Given the description of an element on the screen output the (x, y) to click on. 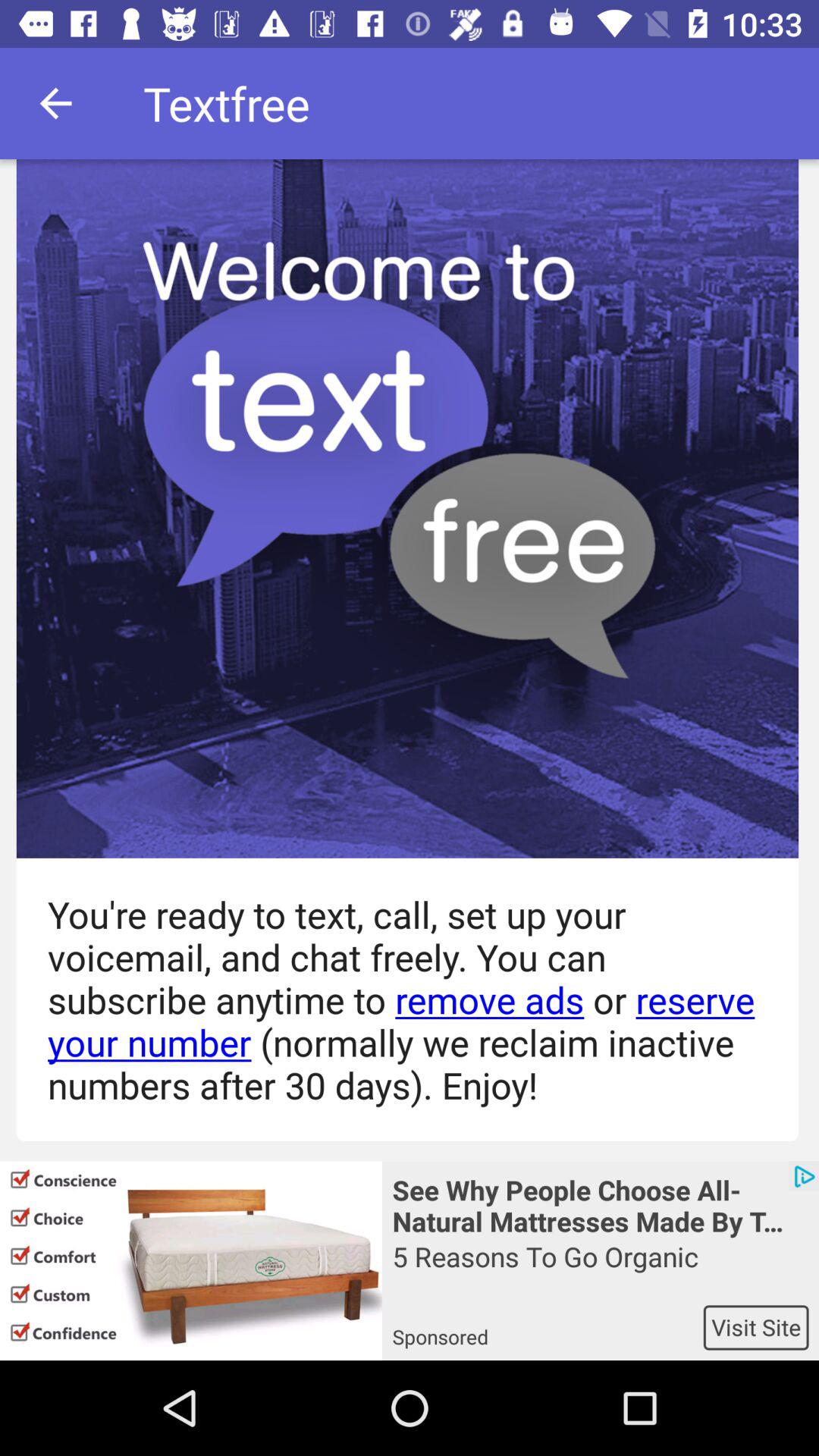
turn on item below you re ready (600, 1204)
